Given the description of an element on the screen output the (x, y) to click on. 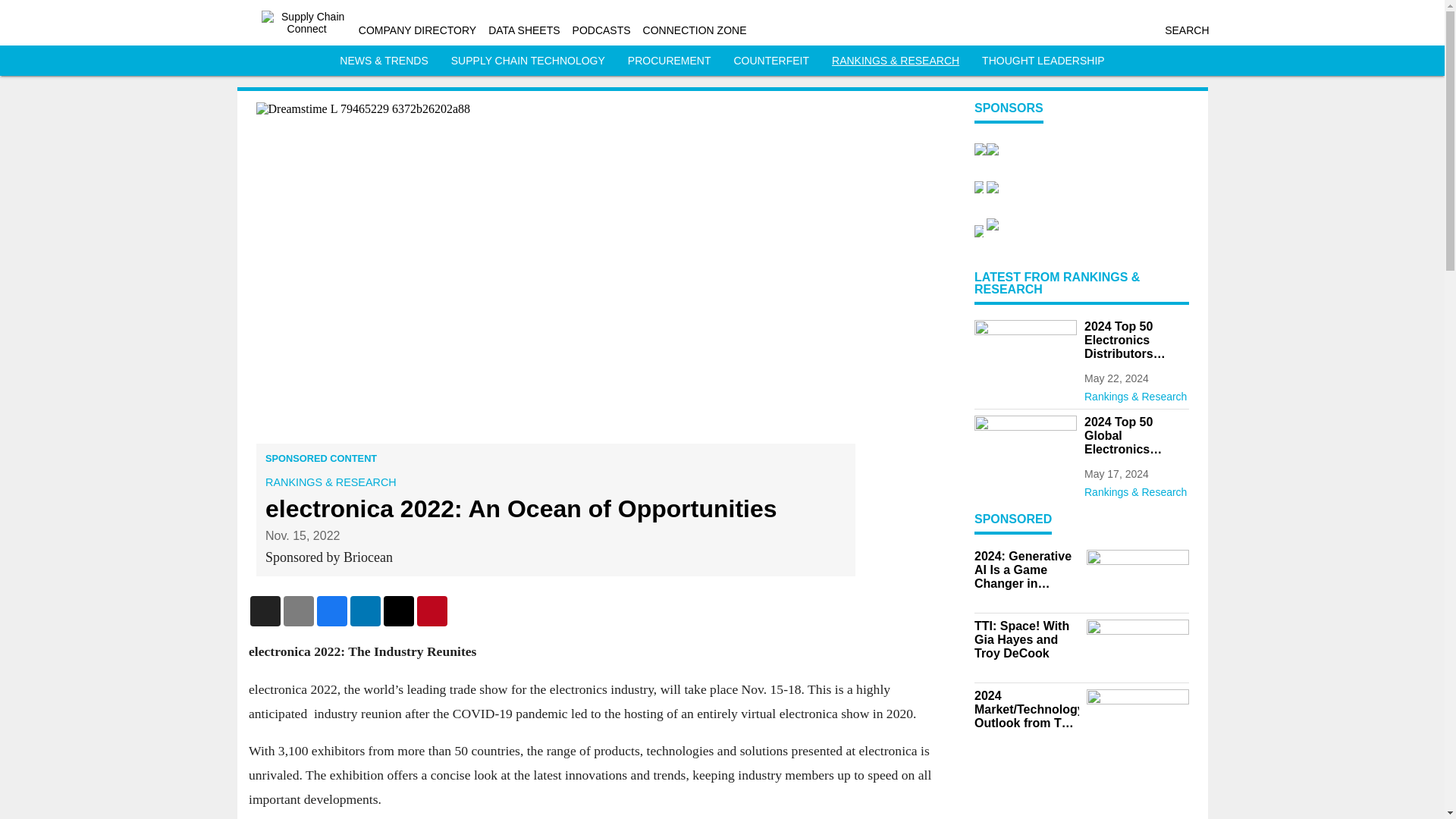
COMPANY DIRECTORY (417, 30)
COUNTERFEIT (771, 60)
DATA SHEETS (523, 30)
PODCASTS (601, 30)
PROCUREMENT (669, 60)
CONNECTION ZONE (694, 30)
THOUGHT LEADERSHIP (1043, 60)
SUPPLY CHAIN TECHNOLOGY (528, 60)
SEARCH (1186, 30)
